Given the description of an element on the screen output the (x, y) to click on. 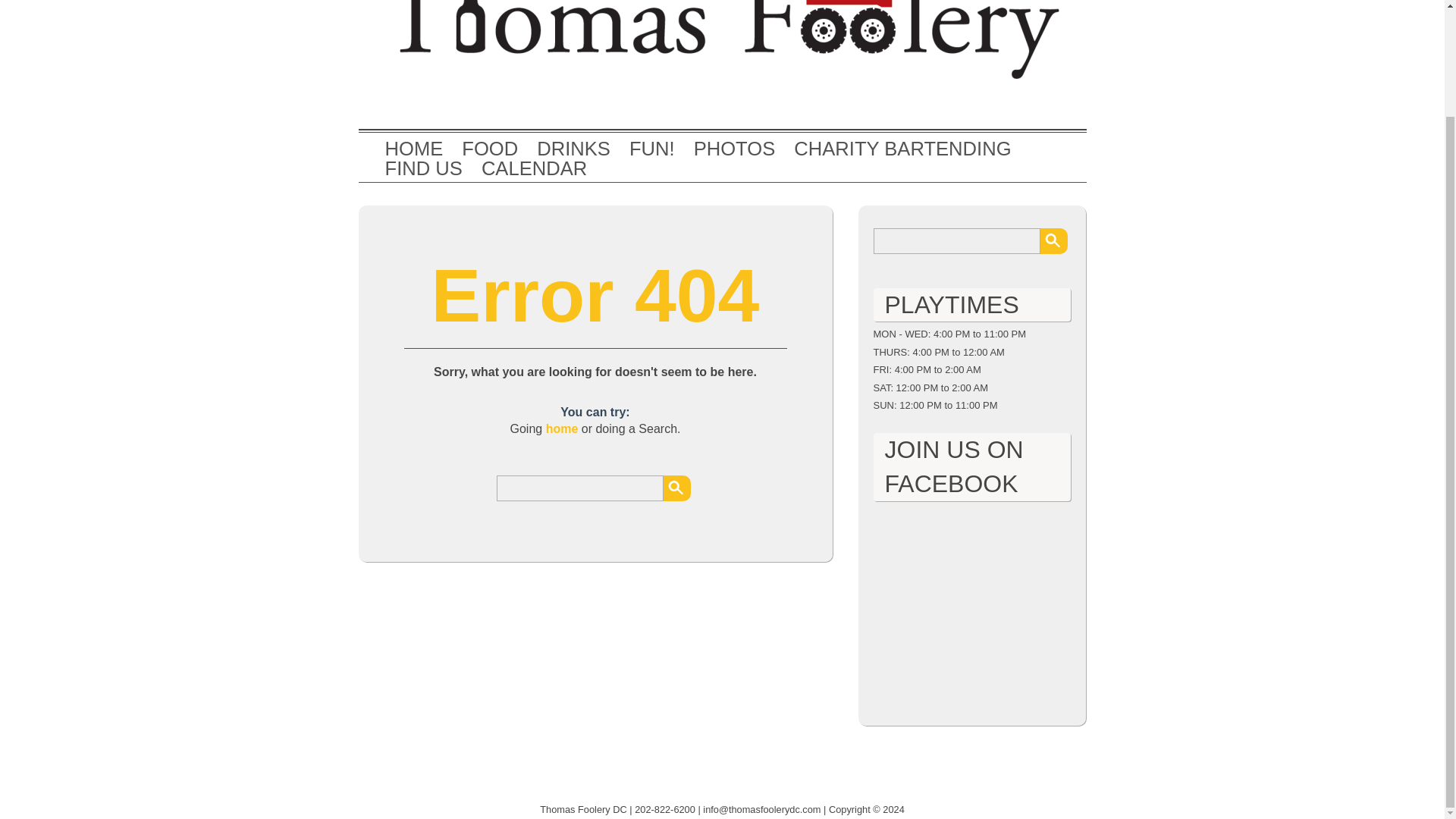
DRINKS (573, 148)
Search (676, 488)
PHOTOS (735, 148)
FOOD (489, 148)
Search (676, 488)
HOME (414, 148)
Search (1054, 240)
FIND US (424, 168)
FUN! (651, 148)
Search (1054, 240)
CALENDAR (533, 168)
home (562, 428)
CHARITY BARTENDING (901, 148)
